Given the description of an element on the screen output the (x, y) to click on. 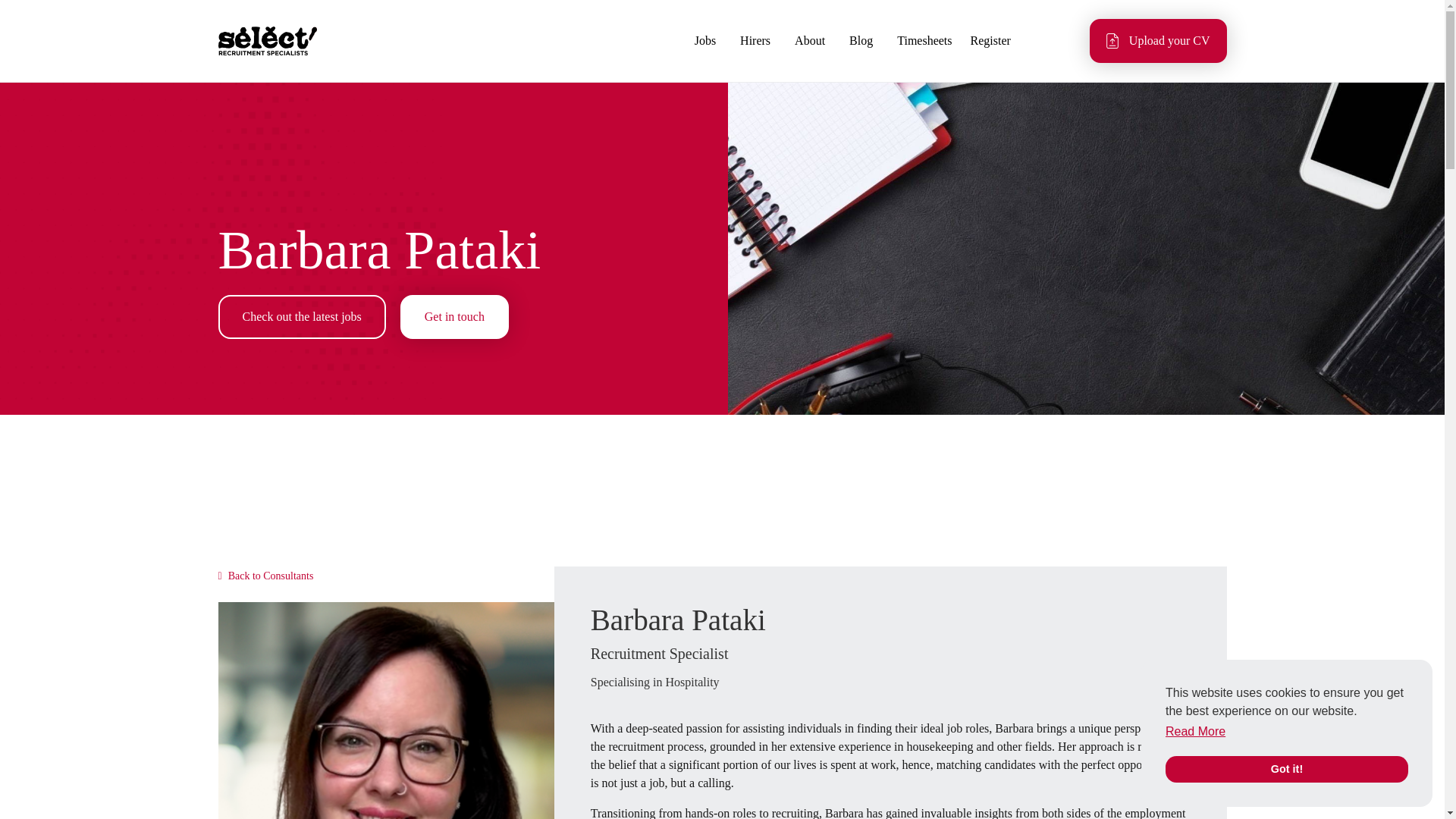
Got it! (1286, 768)
Read More (1195, 731)
Back to Consultants (266, 575)
Blog (861, 40)
Check out the latest jobs (301, 316)
Get in touch (454, 316)
Timesheets (924, 40)
Register (989, 40)
Hirers (755, 40)
Jobs (705, 40)
Upload your CV (1158, 40)
About (810, 40)
